Given the description of an element on the screen output the (x, y) to click on. 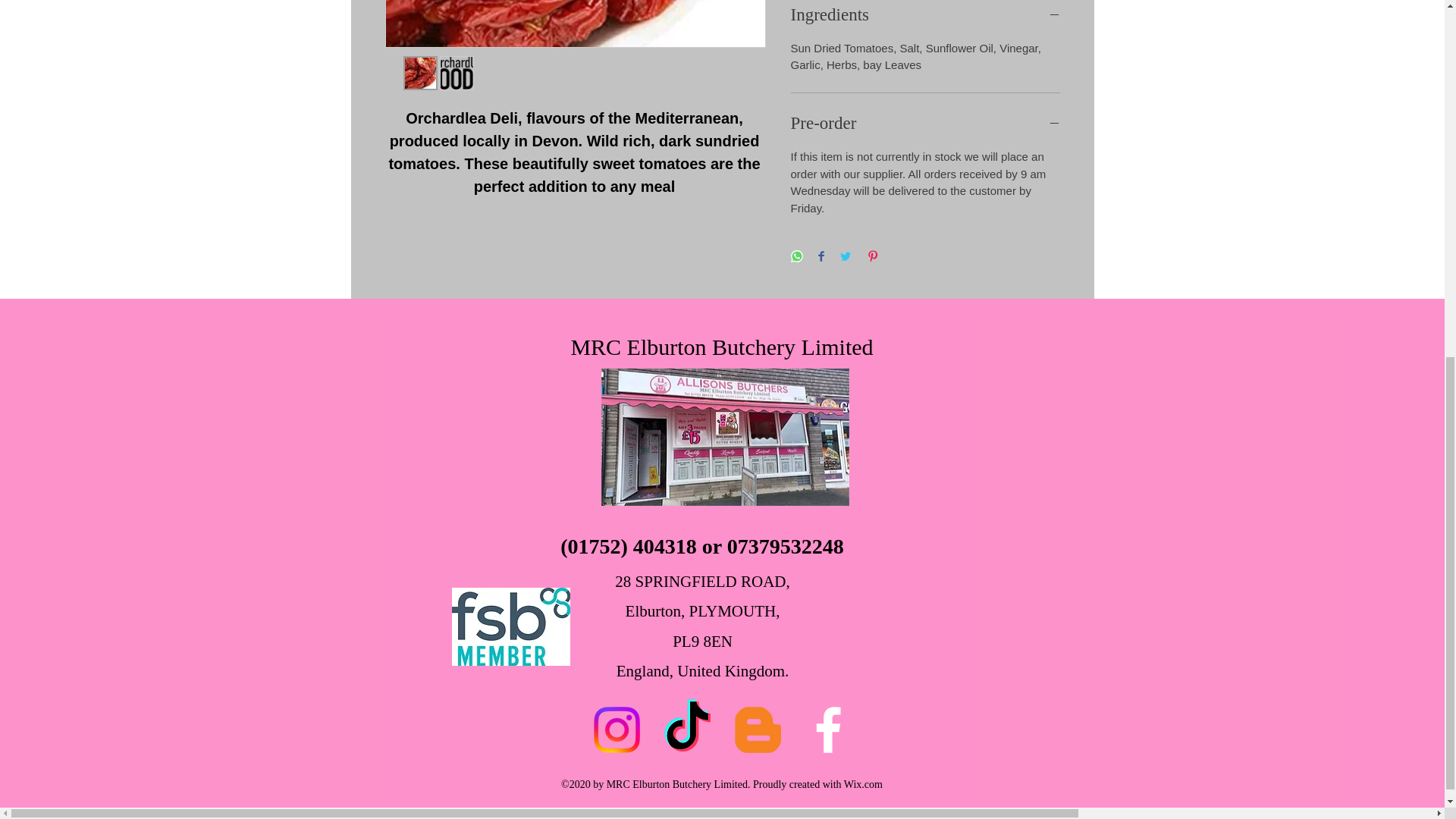
MRC Elburton Butchery Limited (721, 346)
Pre-order (924, 123)
Ingredients (924, 15)
